Given the description of an element on the screen output the (x, y) to click on. 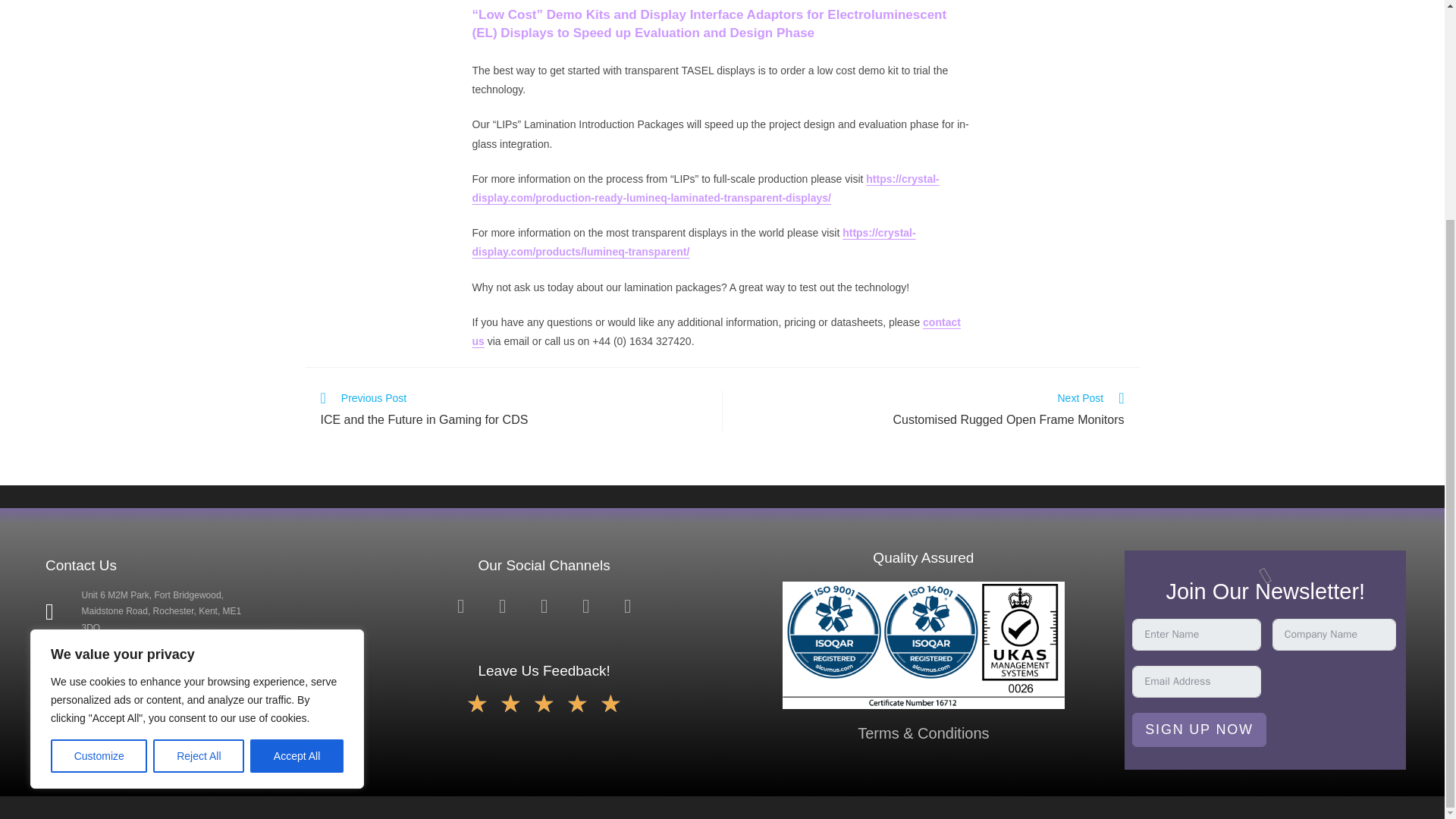
Customize (98, 465)
Accept All (296, 465)
Reject All (198, 465)
